Given the description of an element on the screen output the (x, y) to click on. 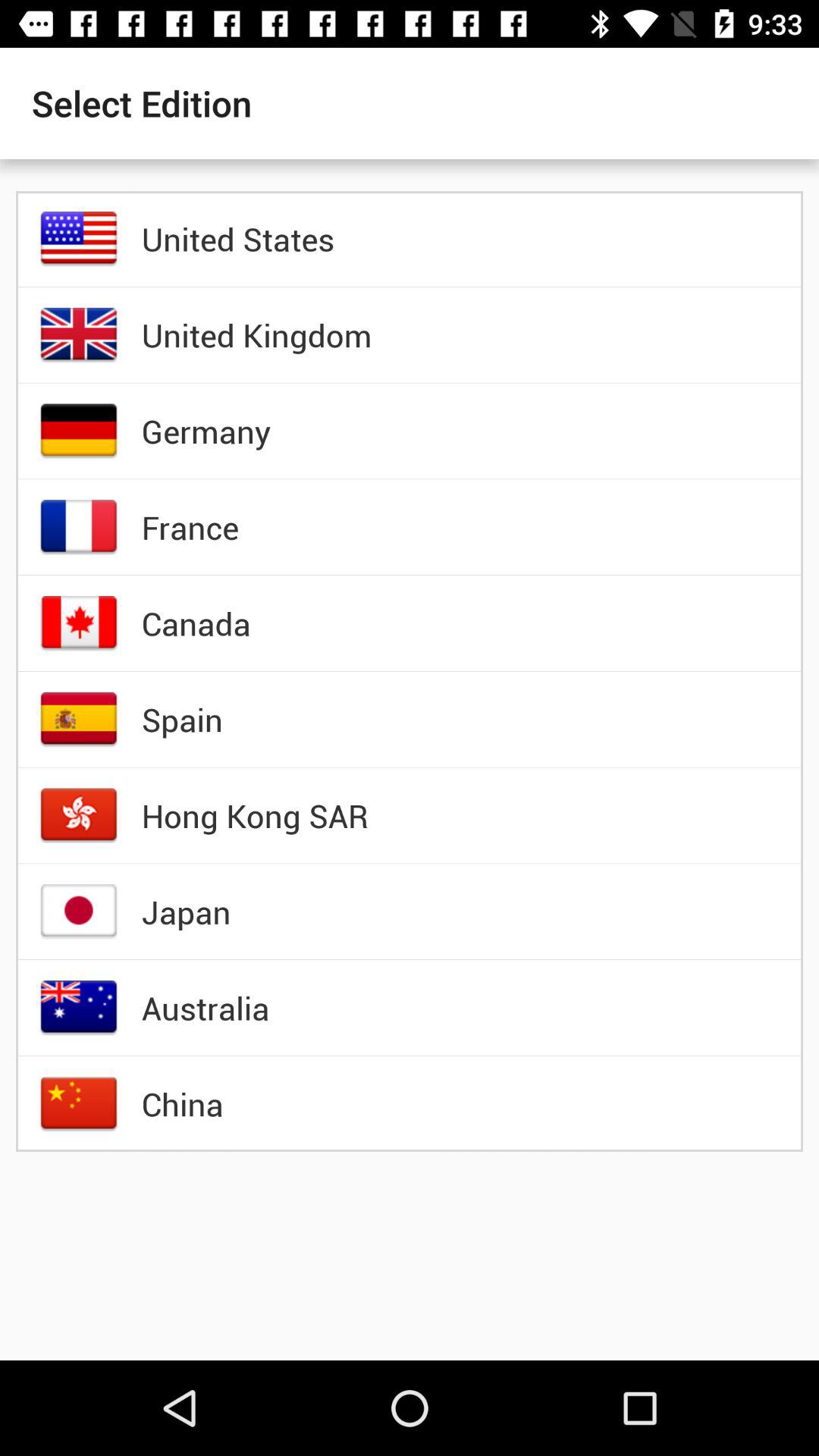
press the item above the hong kong sar item (181, 719)
